Given the description of an element on the screen output the (x, y) to click on. 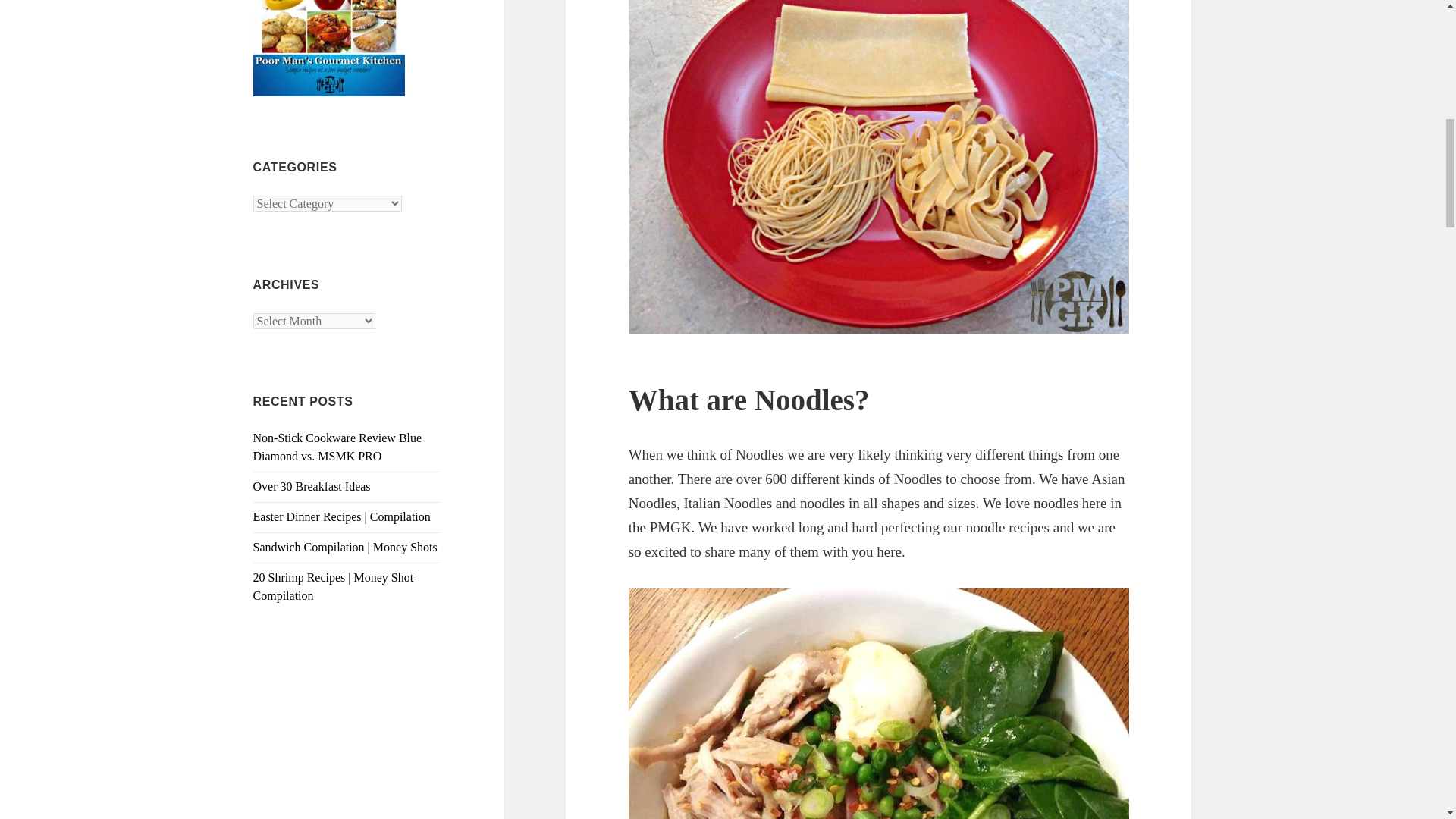
Over 30 Breakfast Ideas (312, 486)
Non-Stick Cookware Review Blue Diamond vs. MSMK PRO (337, 446)
